Given the description of an element on the screen output the (x, y) to click on. 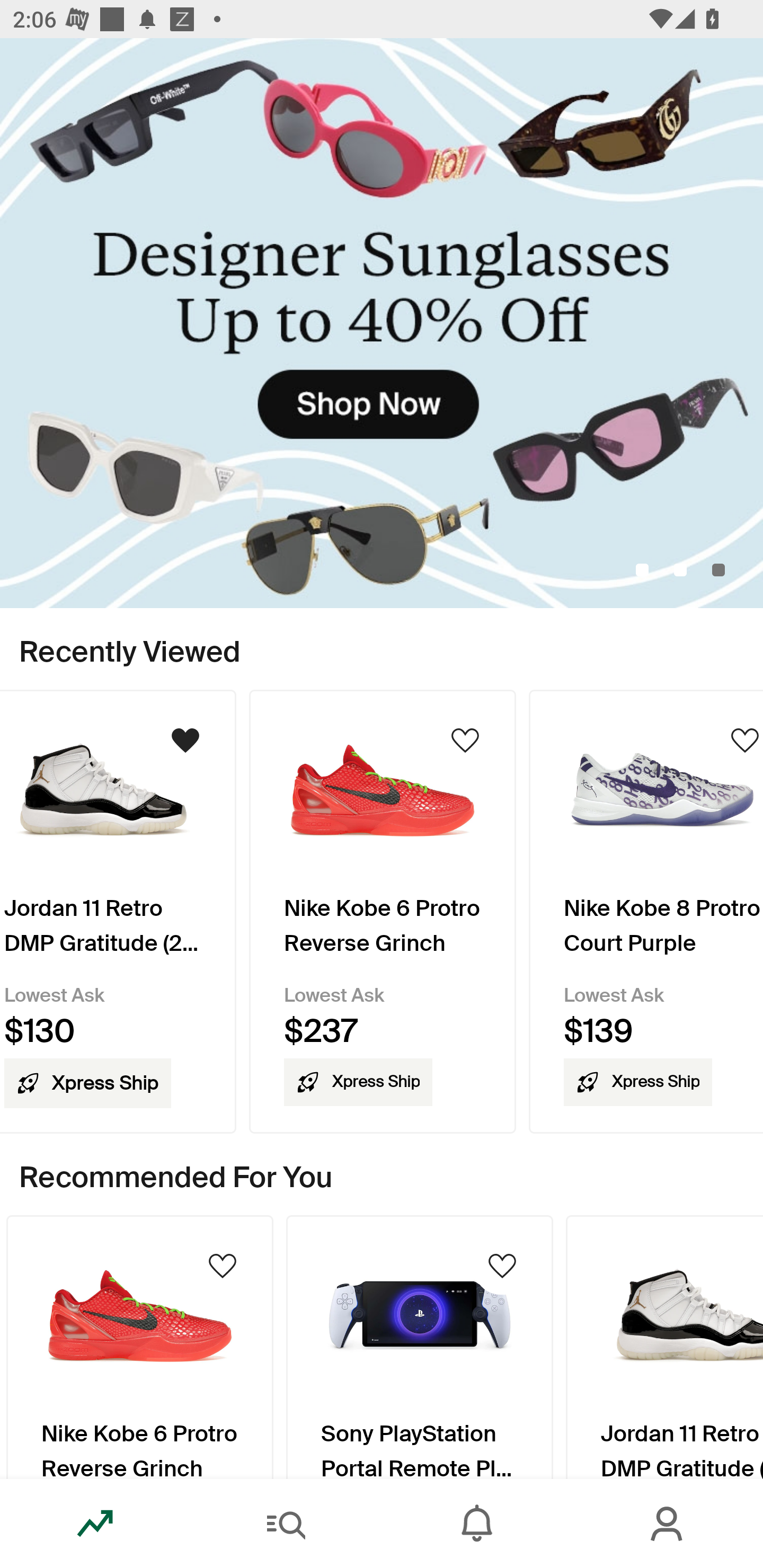
DesignerSunglassesUpto40_Off_Primary_Mobile.jpg (381, 322)
Product Image Nike Kobe 6 Protro Reverse Grinch (139, 1346)
Search (285, 1523)
Inbox (476, 1523)
Account (667, 1523)
